Given the description of an element on the screen output the (x, y) to click on. 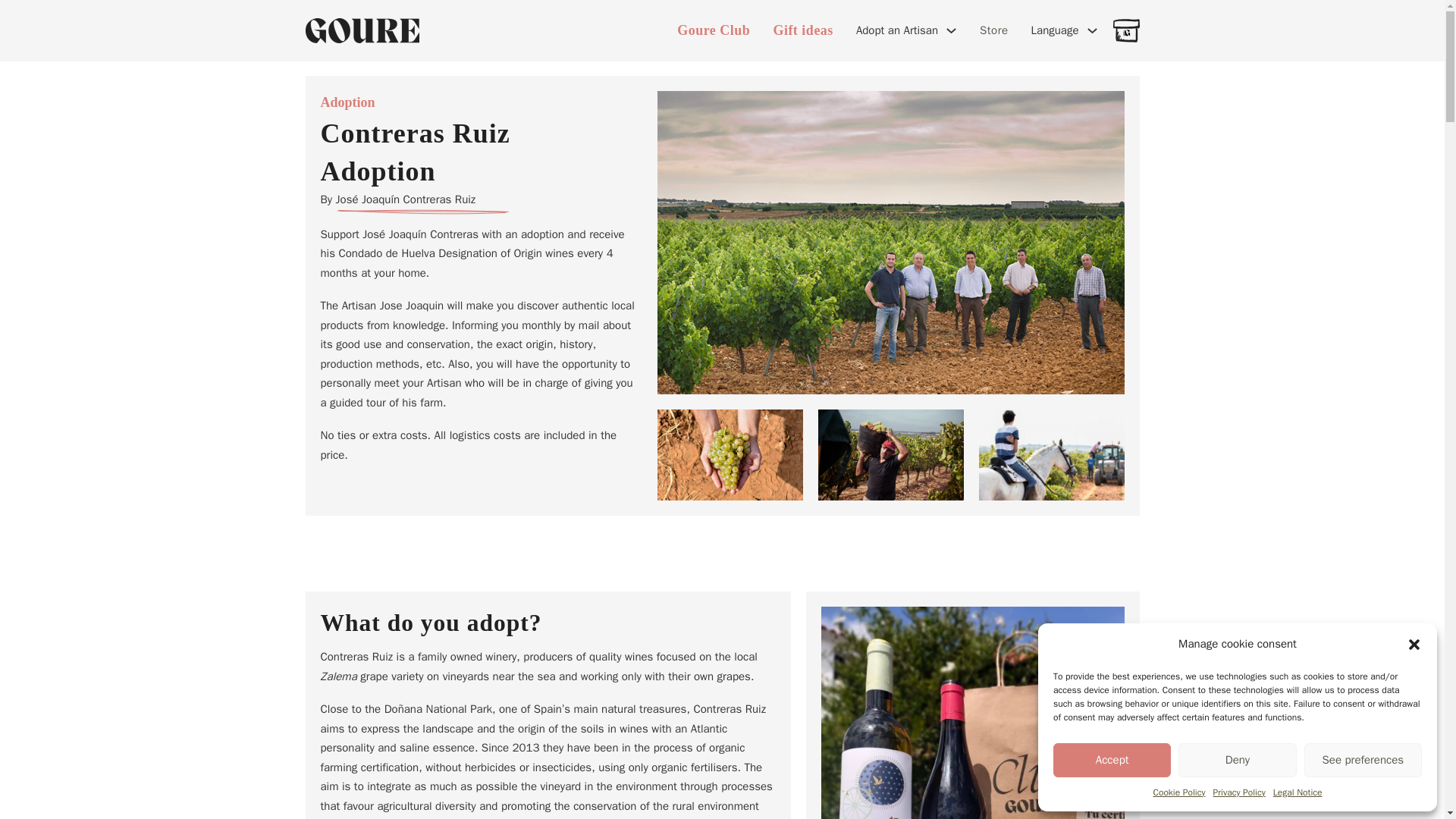
CONTRERAS RUIZ (1003, 712)
Accept (1111, 759)
Goure Club (713, 30)
Legal Notice (1297, 792)
Store (994, 30)
Privacy Policy (1238, 792)
Gift ideas (802, 30)
Adopt an Artisan (896, 30)
Deny (1236, 759)
Cookie Policy (1179, 792)
See preferences (1363, 759)
